Given the description of an element on the screen output the (x, y) to click on. 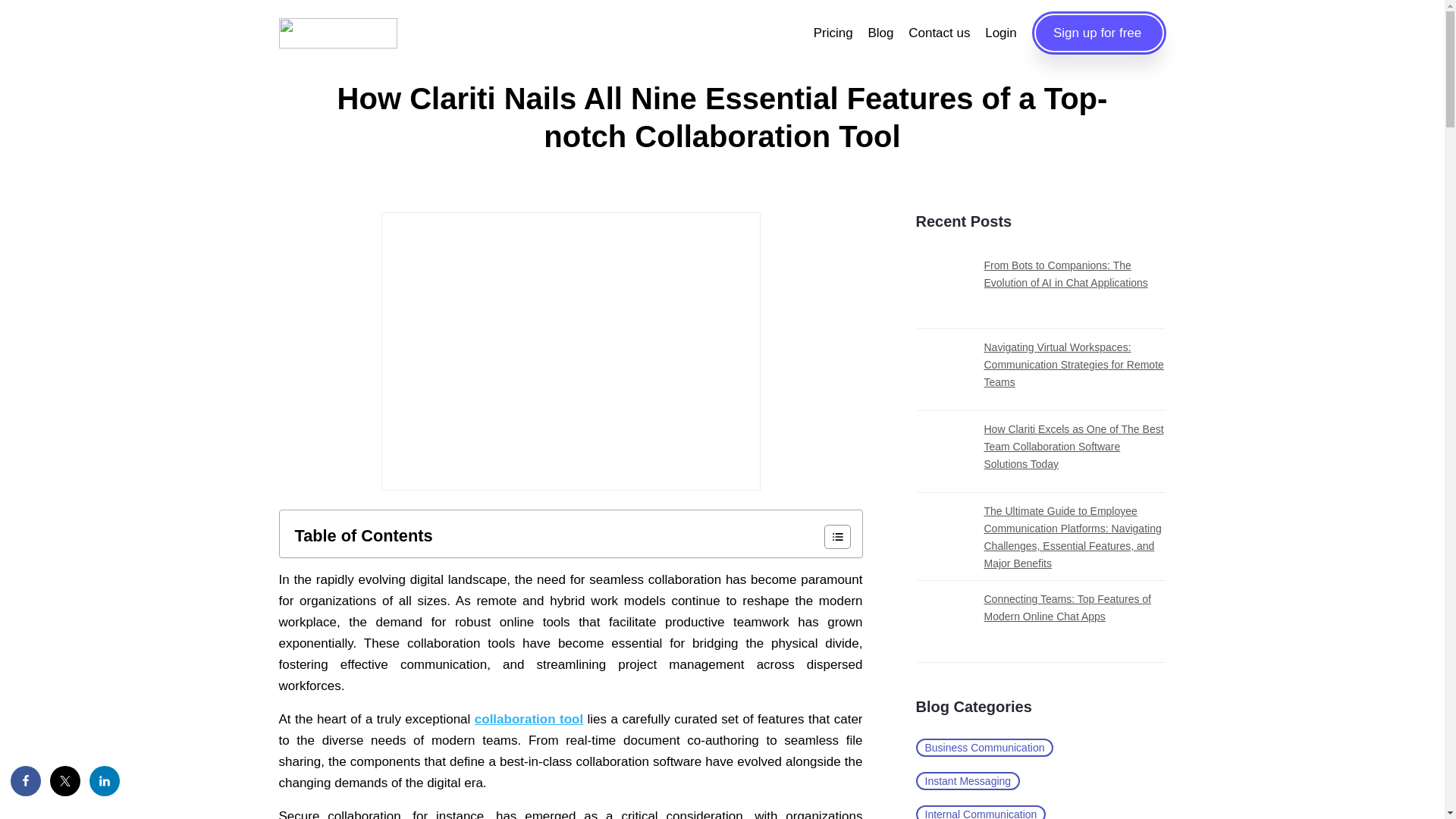
Blog (881, 32)
Pricing (835, 32)
Sign up for free (1098, 32)
Login (1002, 32)
Pricing  (835, 32)
Sign up for free  (1098, 32)
Login  (1002, 32)
collaboration tool (528, 718)
Contact us  (941, 32)
Contact us (941, 32)
Blog  (881, 32)
